Given the description of an element on the screen output the (x, y) to click on. 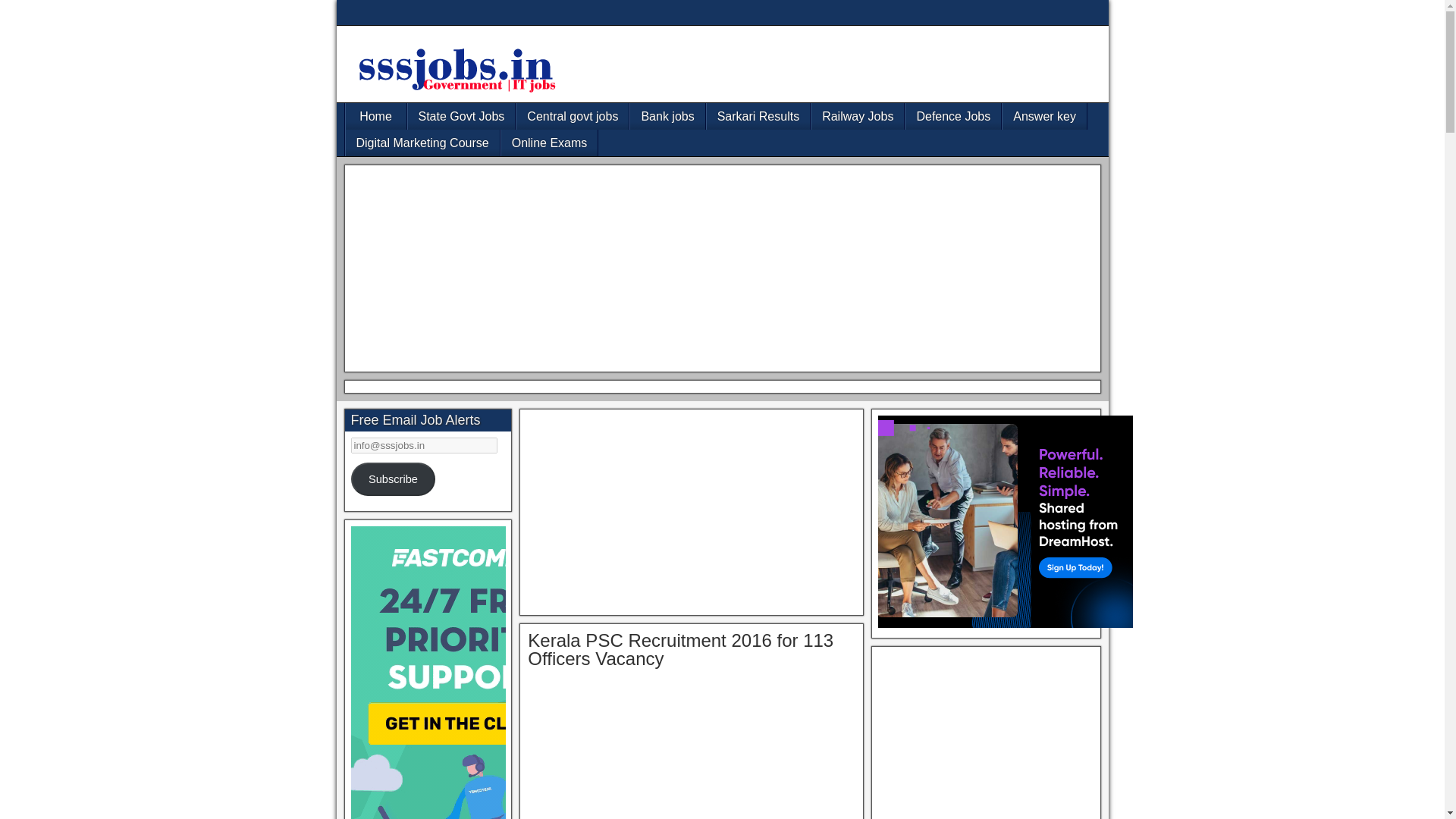
Sarkari Results (757, 116)
Central govt jobs (572, 116)
State Govt Jobs (461, 116)
Kerala PSC Recruitment 2016 for 113 Officers Vacancy (679, 649)
Bank jobs (667, 116)
Online Exams (549, 142)
Railway Jobs (857, 116)
Answer key (1044, 116)
Digital Marketing Course (422, 142)
Home (376, 116)
